Given the description of an element on the screen output the (x, y) to click on. 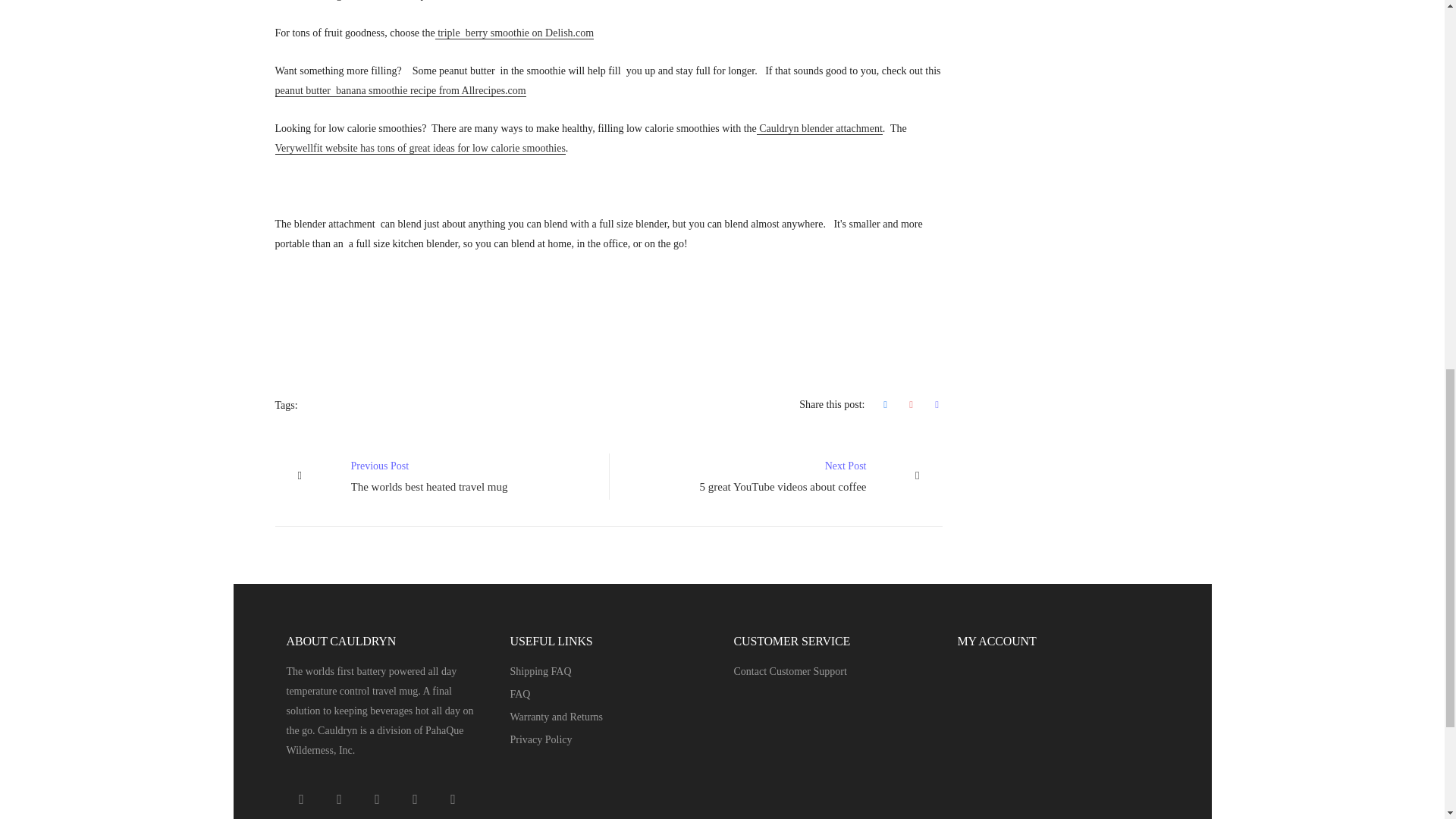
Cauldryn on Instagram (339, 799)
Cauldryn on Pinterest (775, 476)
Cauldryn on Youtube (415, 799)
peanut butter  banana smoothie recipe from Allrecipes.com (377, 799)
Cauldryn on Facebook (400, 90)
Shipping FAQ (441, 476)
Cauldryn on Linkedin (301, 799)
Cauldryn blender attachment (539, 671)
riple  berry smoothie on Delish.com (453, 799)
